Given the description of an element on the screen output the (x, y) to click on. 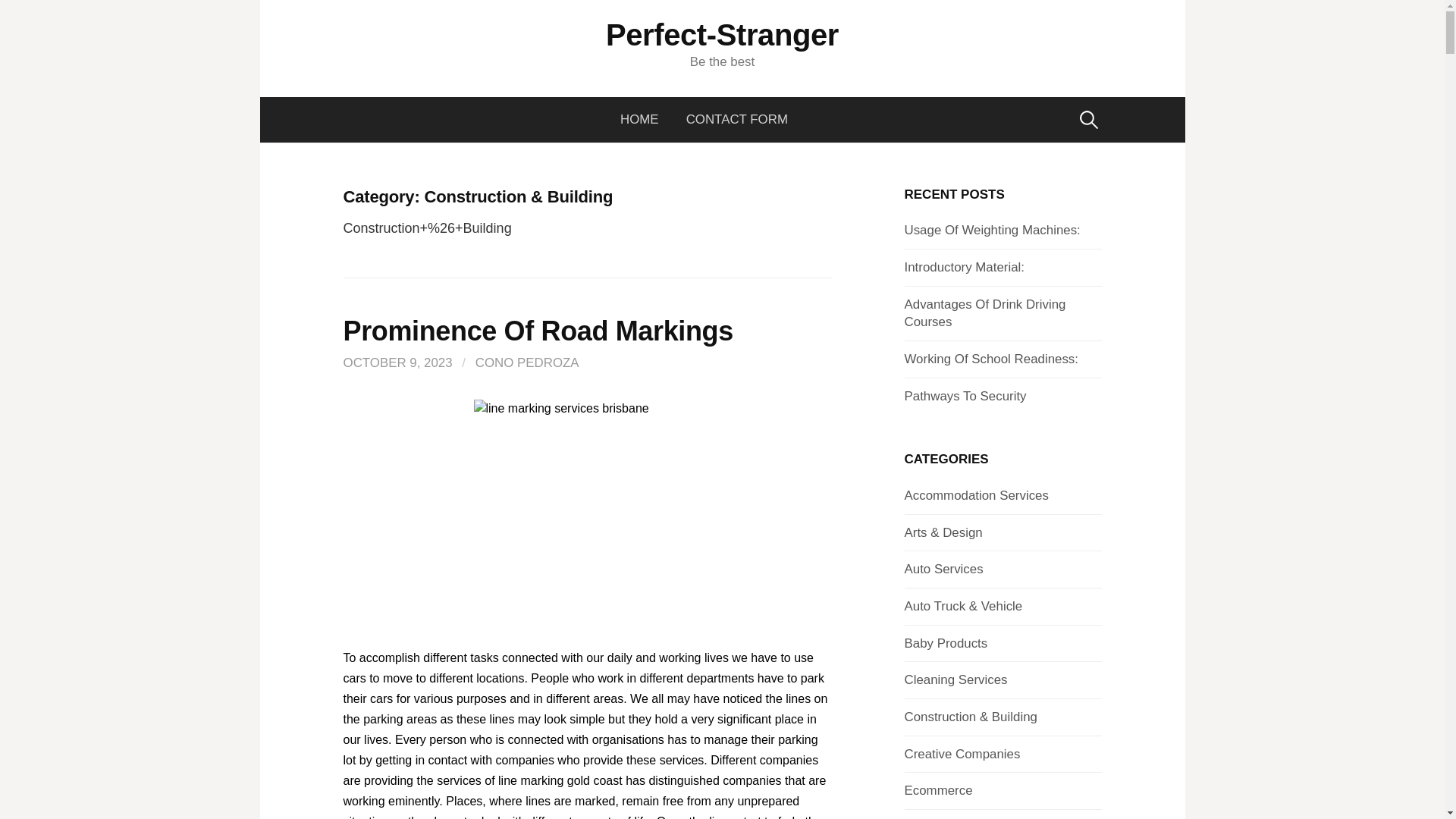
Perfect-Stranger (721, 34)
Search (16, 16)
CONTACT FORM (737, 119)
line marking services brisbane (586, 513)
HOME (646, 119)
OCTOBER 9, 2023 (396, 362)
CONO PEDROZA (527, 362)
Prominence Of Road Markings (537, 330)
